Given the description of an element on the screen output the (x, y) to click on. 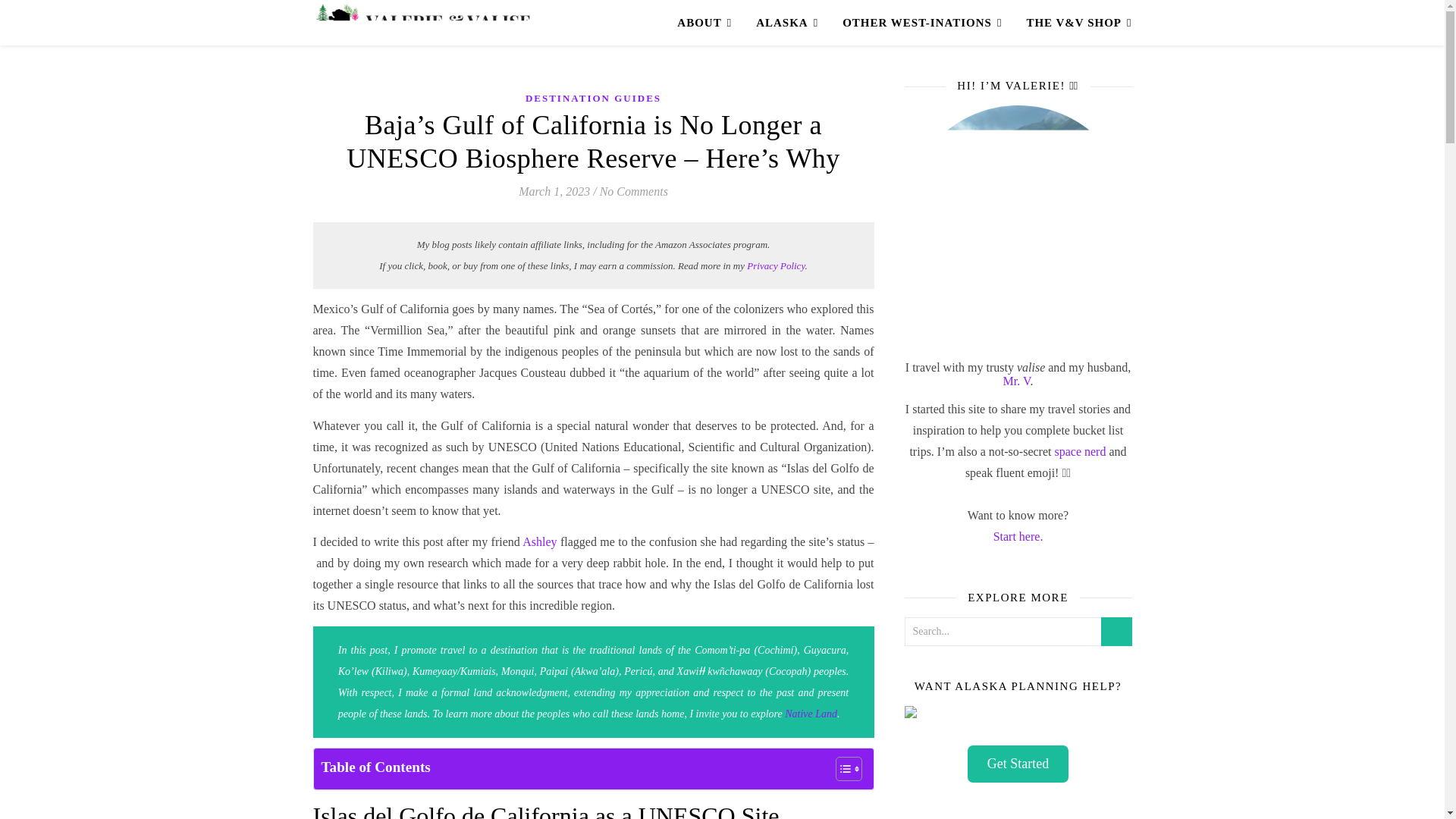
OTHER WEST-INATIONS (921, 22)
ALASKA (786, 22)
ABOUT (710, 22)
